Given the description of an element on the screen output the (x, y) to click on. 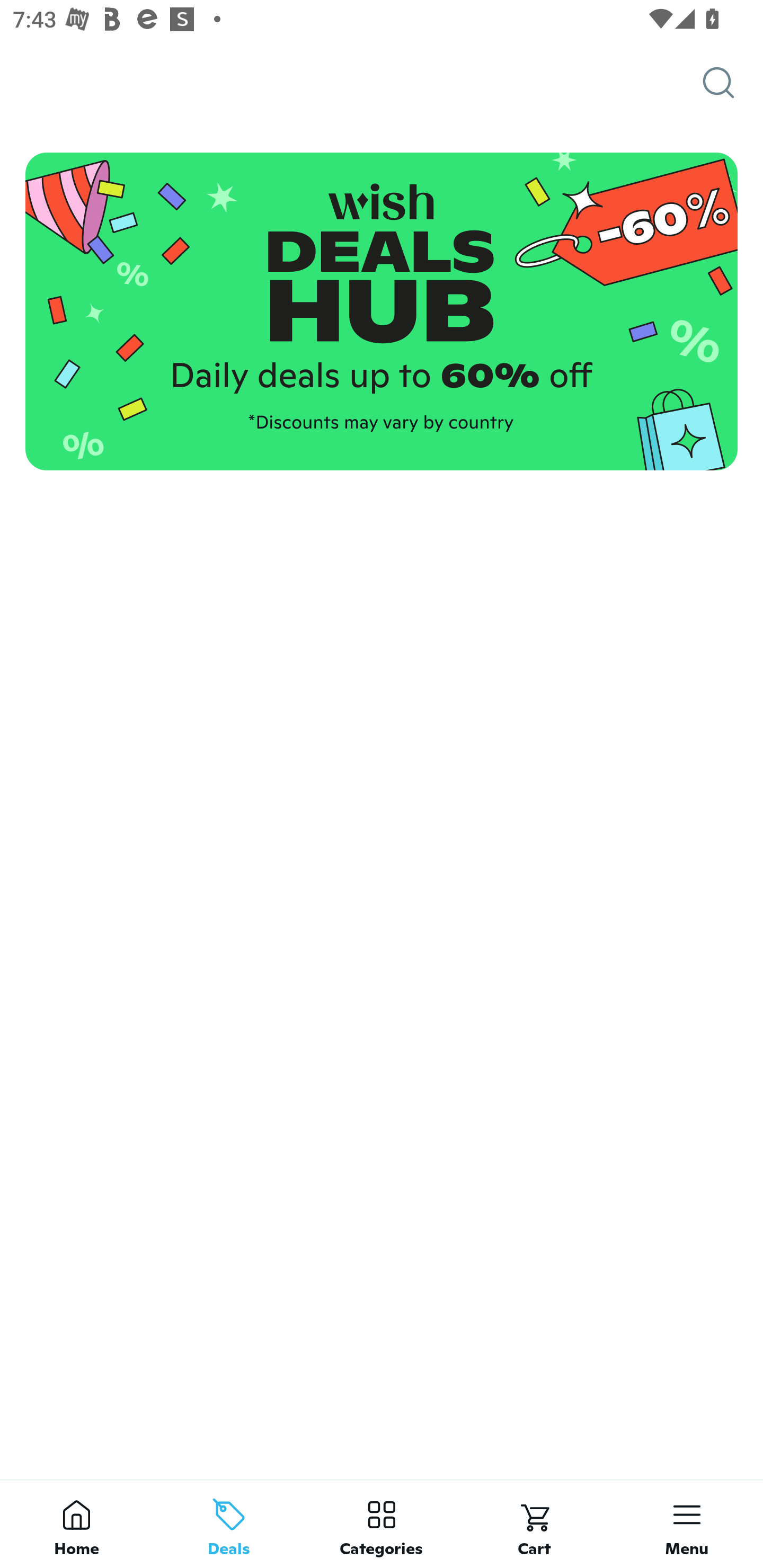
Search (732, 82)
Home (76, 1523)
Deals (228, 1523)
Categories (381, 1523)
Cart (533, 1523)
Menu (686, 1523)
